Given the description of an element on the screen output the (x, y) to click on. 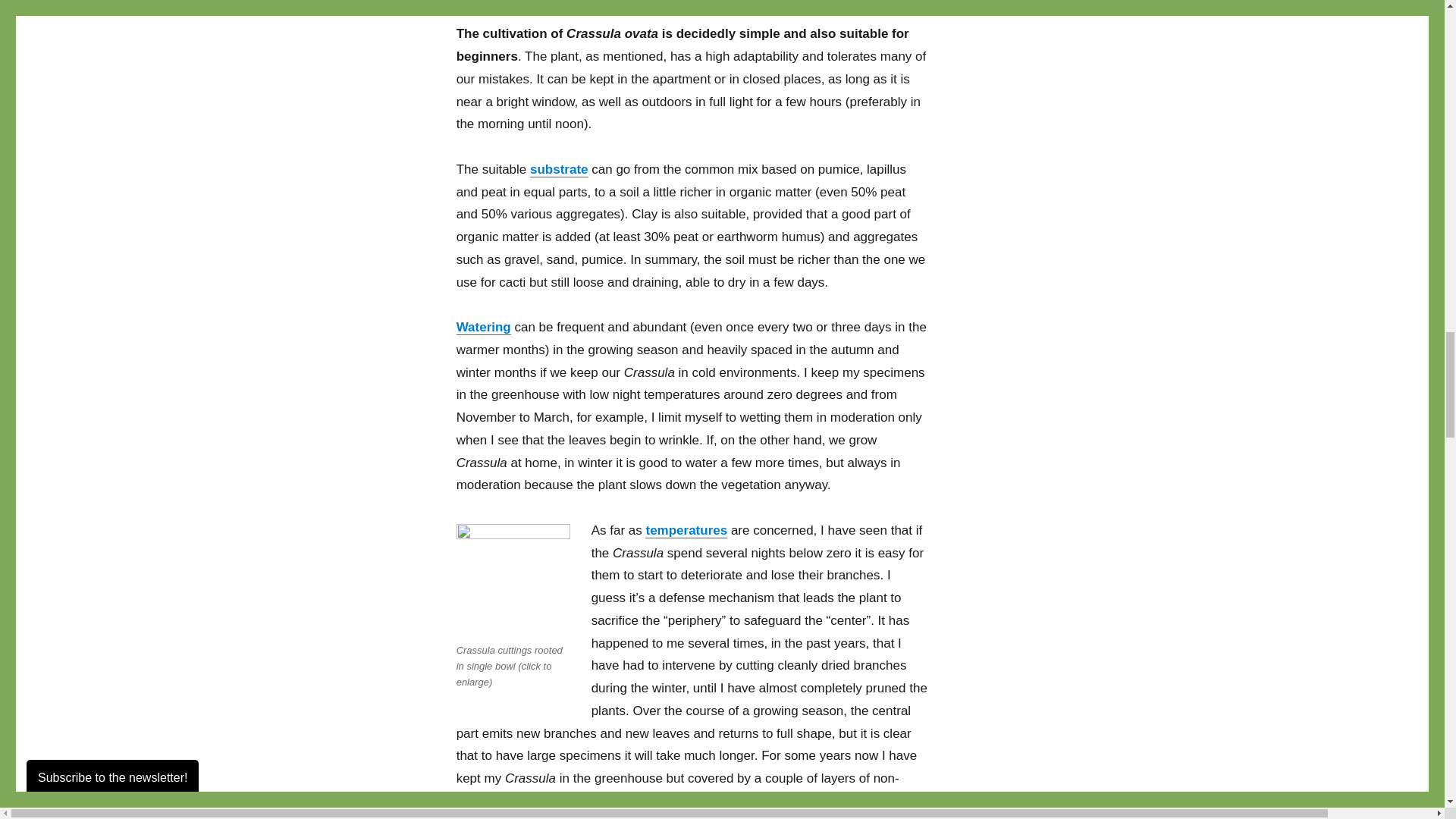
temperatures (685, 530)
substrate (558, 169)
Watering (484, 327)
